Given the description of an element on the screen output the (x, y) to click on. 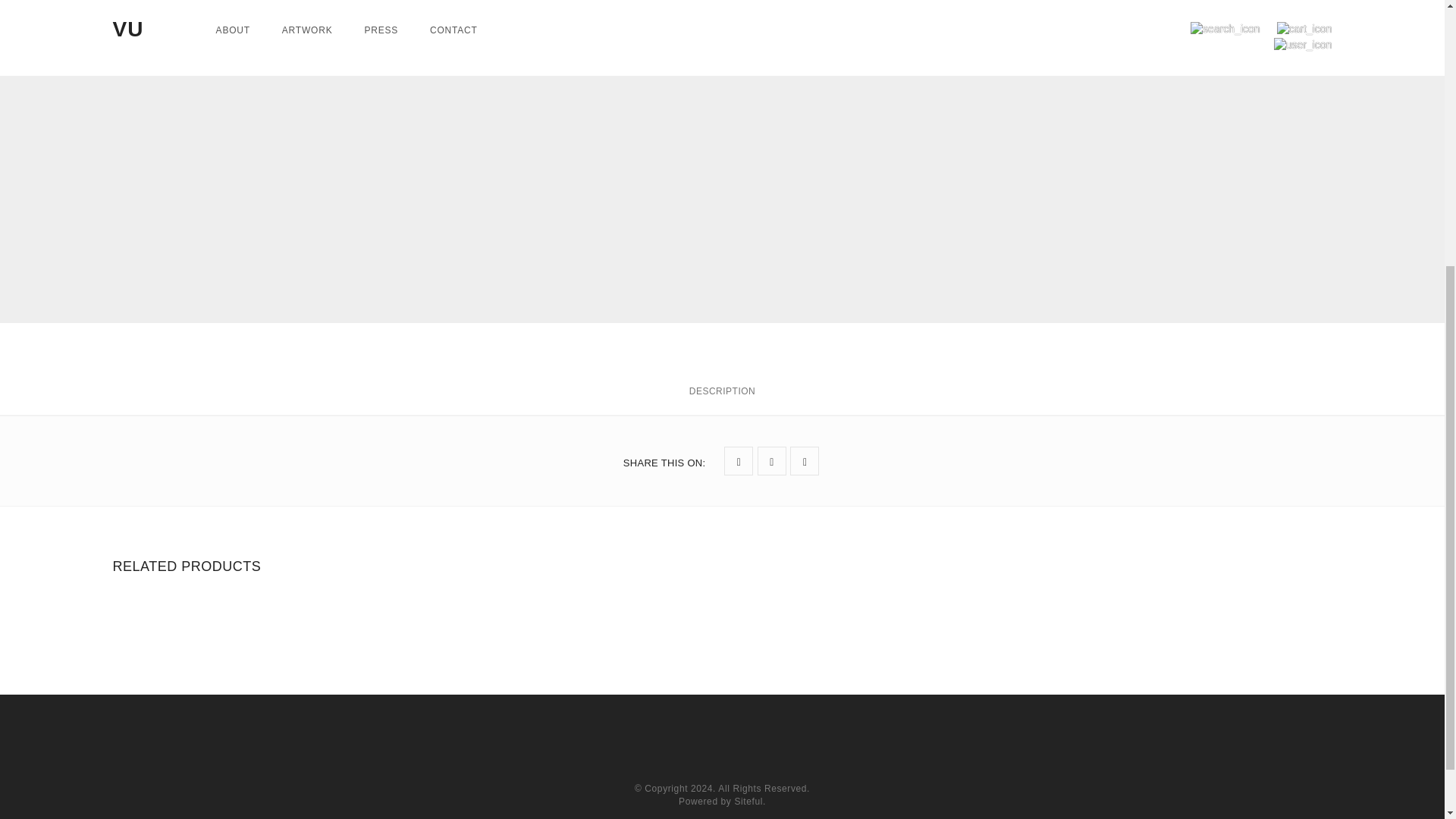
Share On Linkedin (771, 460)
Artists for the Orchid Foundation 2021 (837, 12)
Share On Pinterest (804, 460)
DESCRIPTION (721, 397)
SHARE THIS ON: (664, 462)
